Given the description of an element on the screen output the (x, y) to click on. 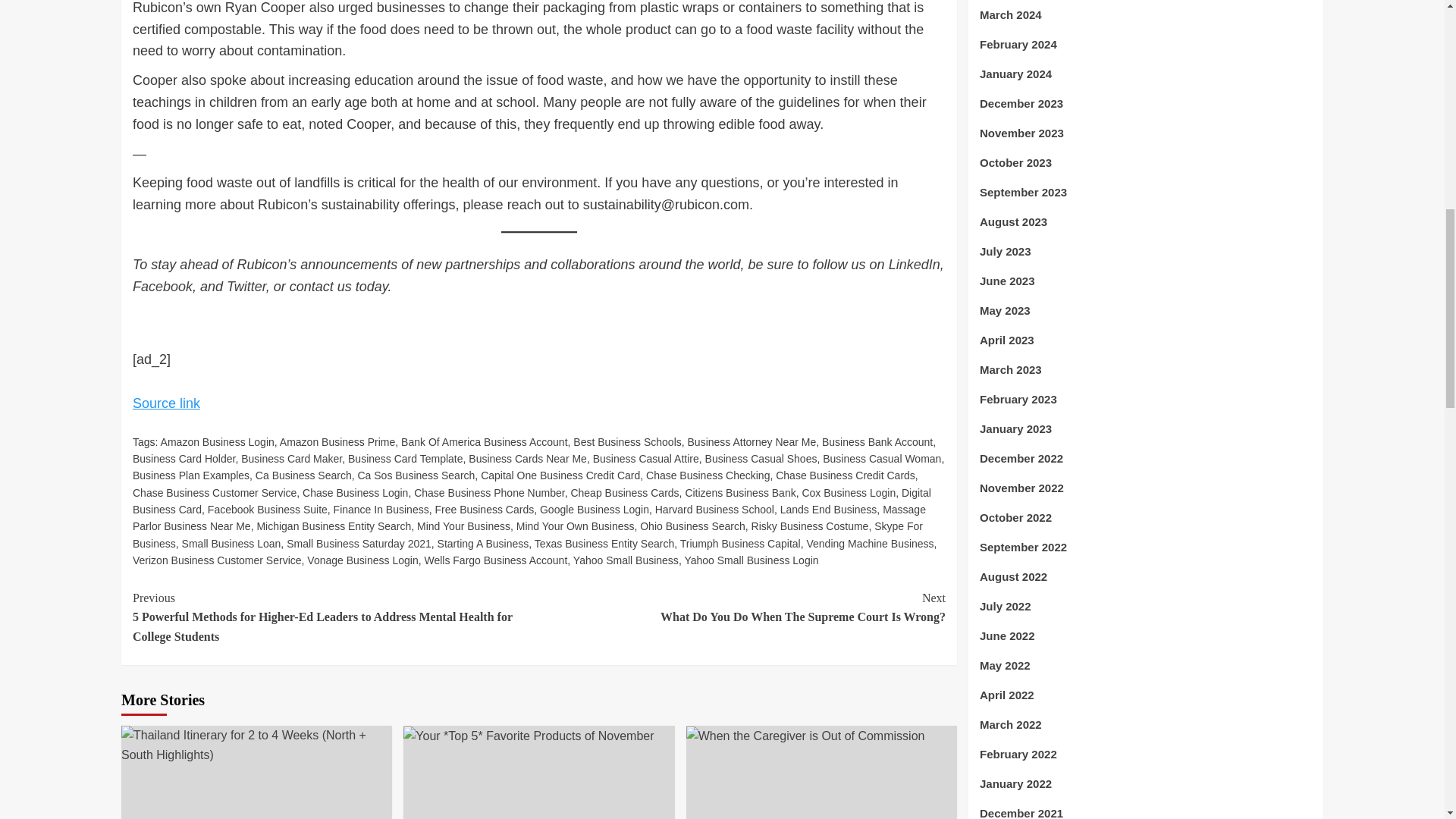
Business Card Holder (183, 458)
When the Caregiver is Out of Commission (804, 736)
Business Casual Attire (645, 458)
Business Attorney Near Me (751, 440)
LinkedIn (914, 264)
Bank Of America Business Account (484, 440)
Business Bank Account (877, 440)
Twitter (246, 286)
Business Card Template (405, 458)
Business Card Maker (291, 458)
Business Casual Shoes (760, 458)
Best Business Schools (627, 440)
Business Cards Near Me (527, 458)
Amazon Business Prime (337, 440)
Amazon Business Login (217, 440)
